Given the description of an element on the screen output the (x, y) to click on. 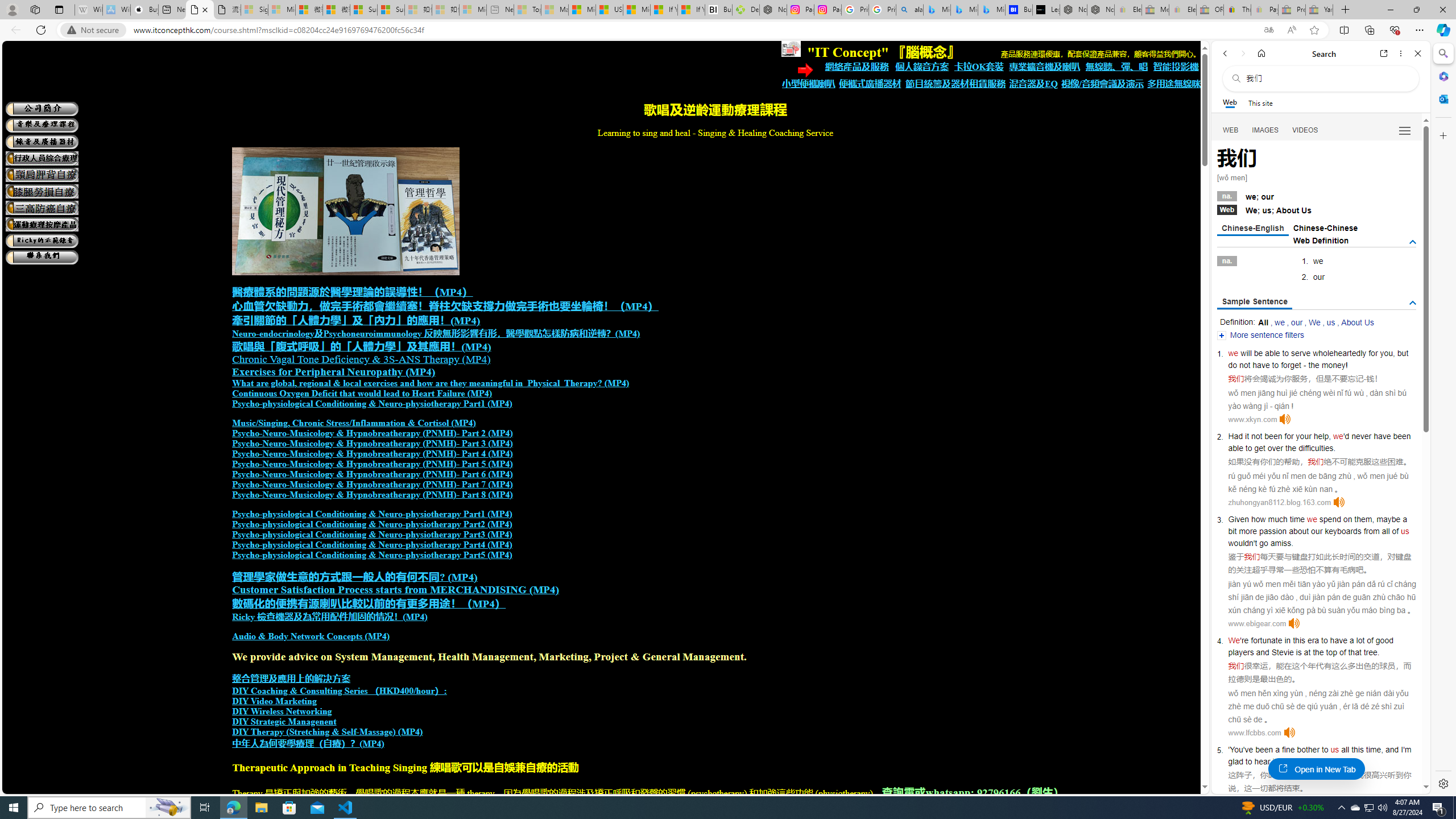
Preferences (1403, 129)
never (1361, 435)
Outlook (1442, 98)
will (1246, 352)
difficulties (1315, 447)
Search Filter, IMAGES (1265, 129)
